Given the description of an element on the screen output the (x, y) to click on. 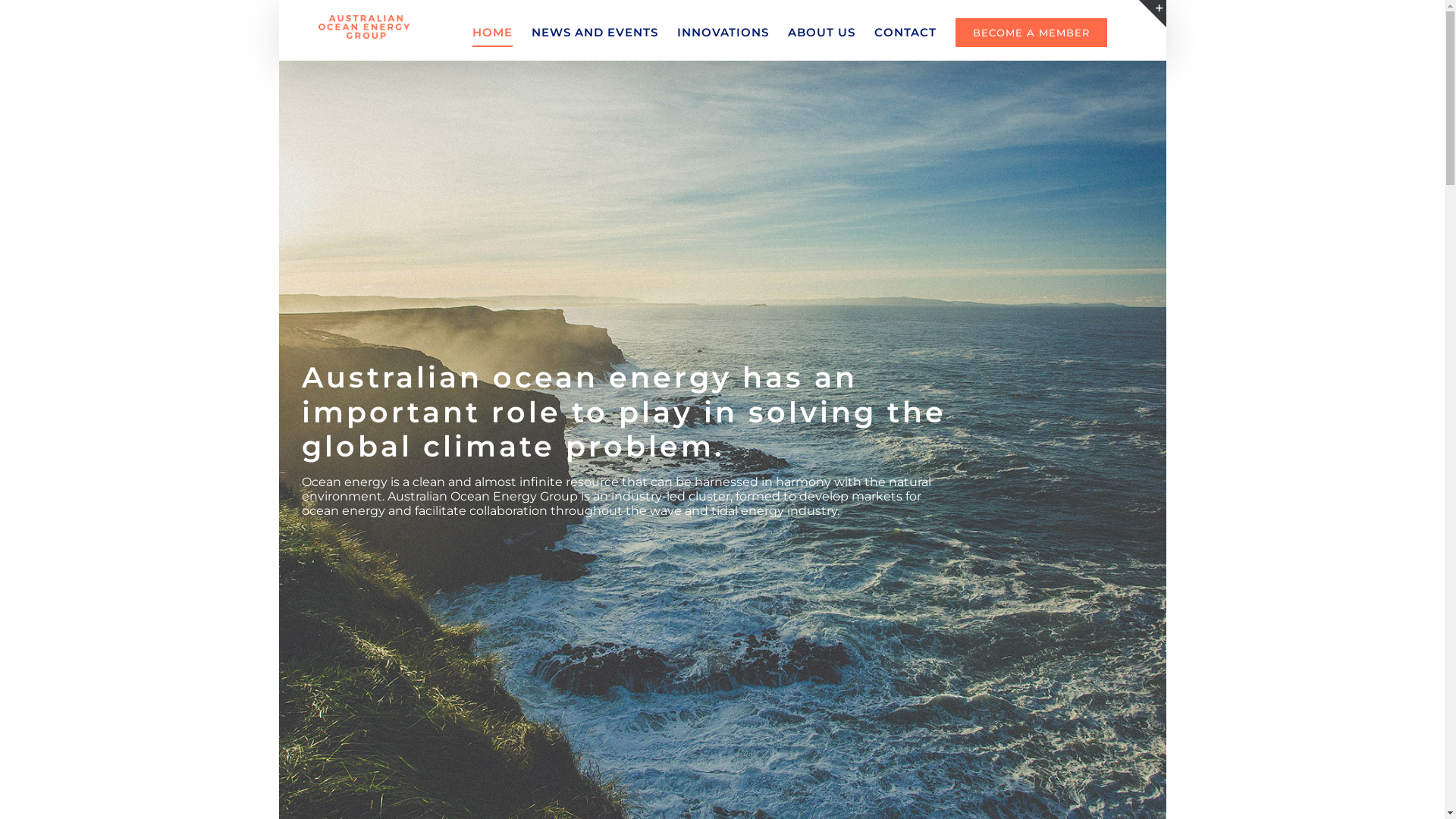
NEWS AND EVENTS Element type: text (594, 31)
BECOME A MEMBER Element type: text (1031, 31)
HOME Element type: text (492, 31)
ABOUT US Element type: text (821, 31)
Toggle Sliding Bar Area Element type: text (1152, 13)
CONTACT Element type: text (905, 31)
INNOVATIONS Element type: text (722, 31)
